Given the description of an element on the screen output the (x, y) to click on. 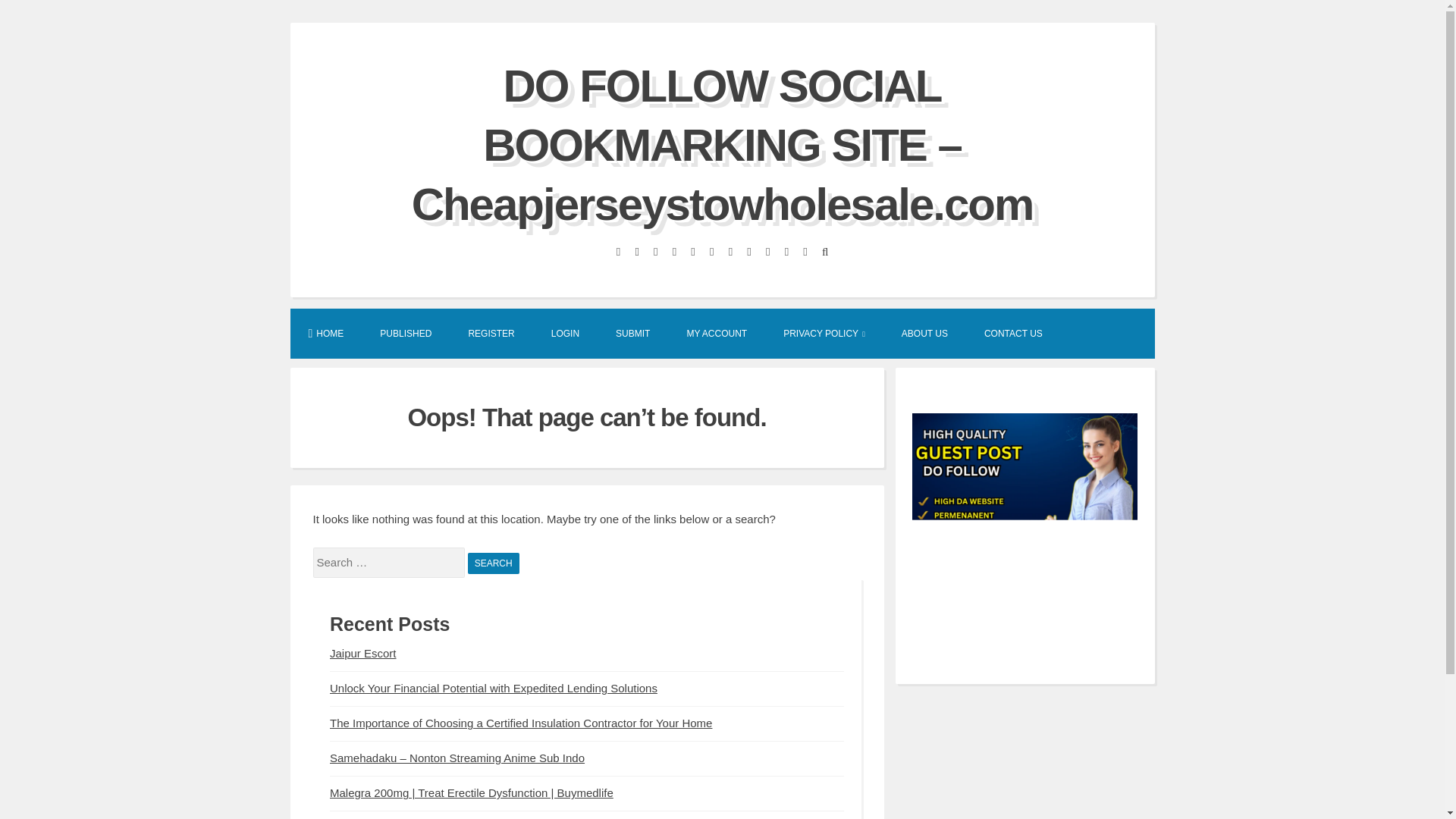
REGISTER (490, 332)
ABOUT US (924, 332)
LOGIN (564, 332)
PUBLISHED (405, 332)
Search (493, 563)
Search (493, 563)
MY ACCOUNT (716, 332)
Search (493, 563)
HOME (325, 332)
